Given the description of an element on the screen output the (x, y) to click on. 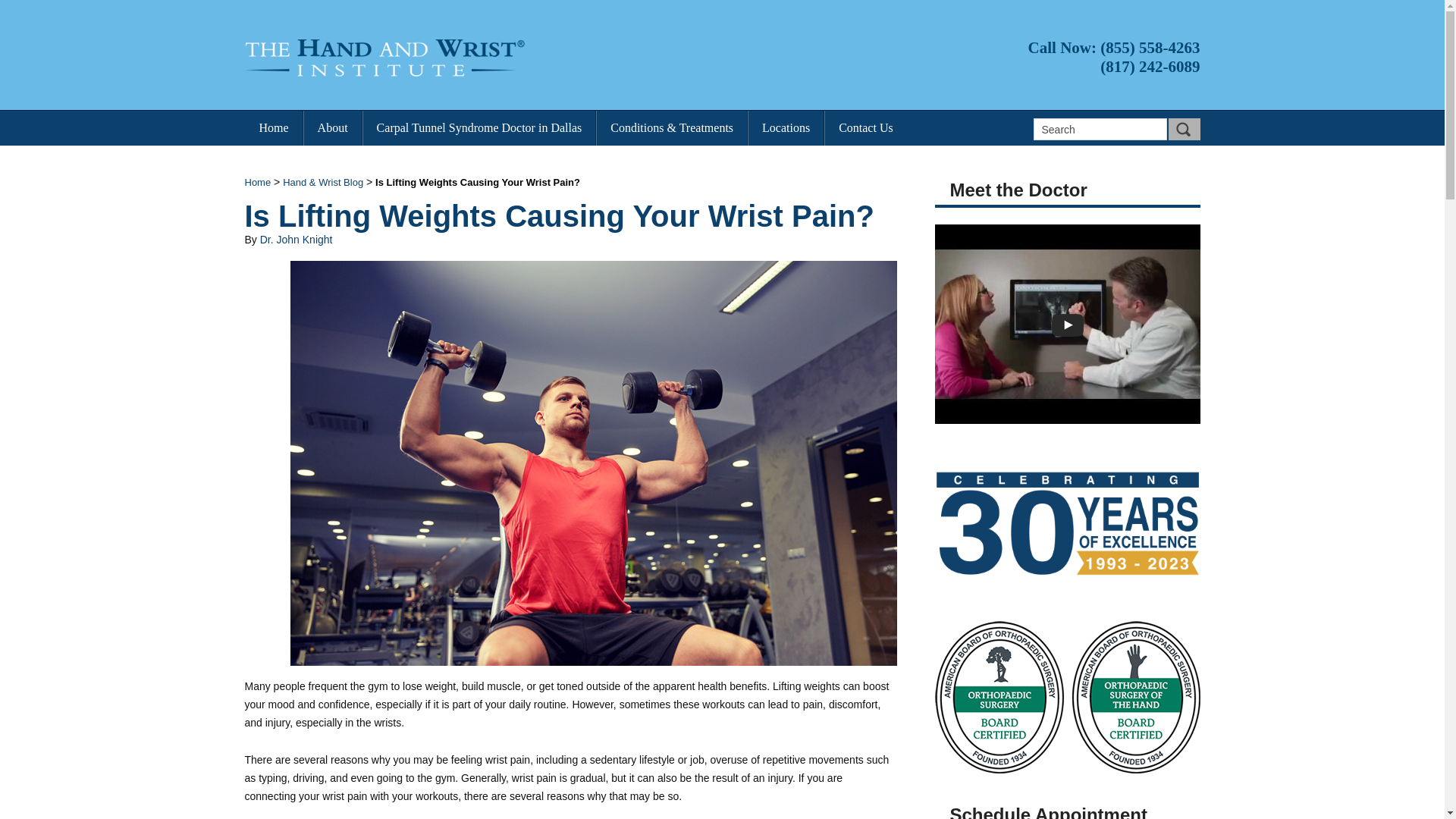
Carpal Tunnel Syndrome Doctor in Dallas (479, 127)
Hand and Wrist Institute (479, 57)
Hand and Wrist Institute (384, 57)
Dr. John Knight (296, 239)
Search (1099, 128)
Home (273, 127)
About (332, 127)
